Given the description of an element on the screen output the (x, y) to click on. 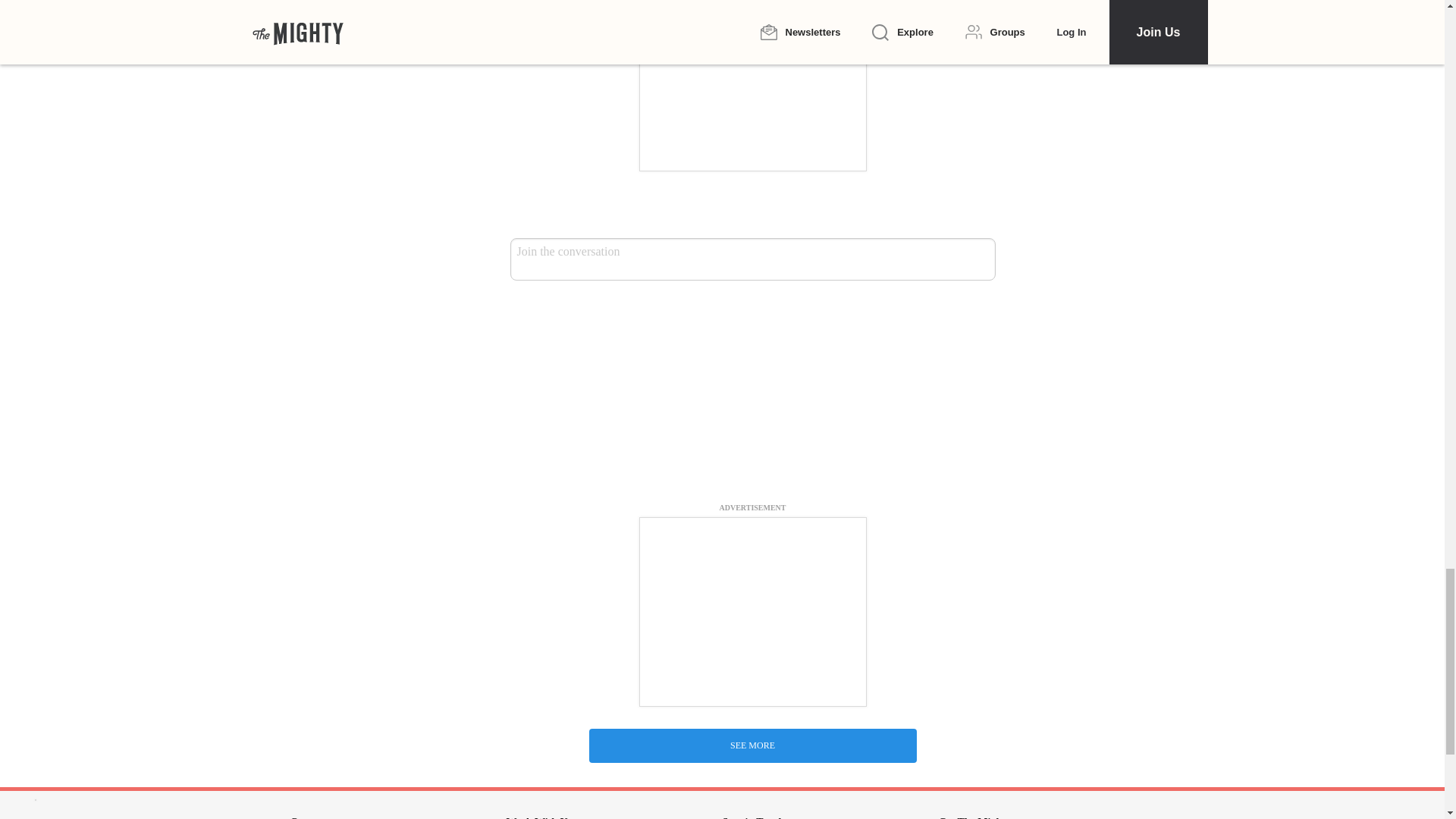
Why No One Can See My Hardest Days With Cerebral Palsy (752, 730)
Visit Emma's profile (545, 485)
How Cerebral Palsy Affects My Life (752, 551)
How Cerebral Palsy Affects My Life (752, 384)
